Given the description of an element on the screen output the (x, y) to click on. 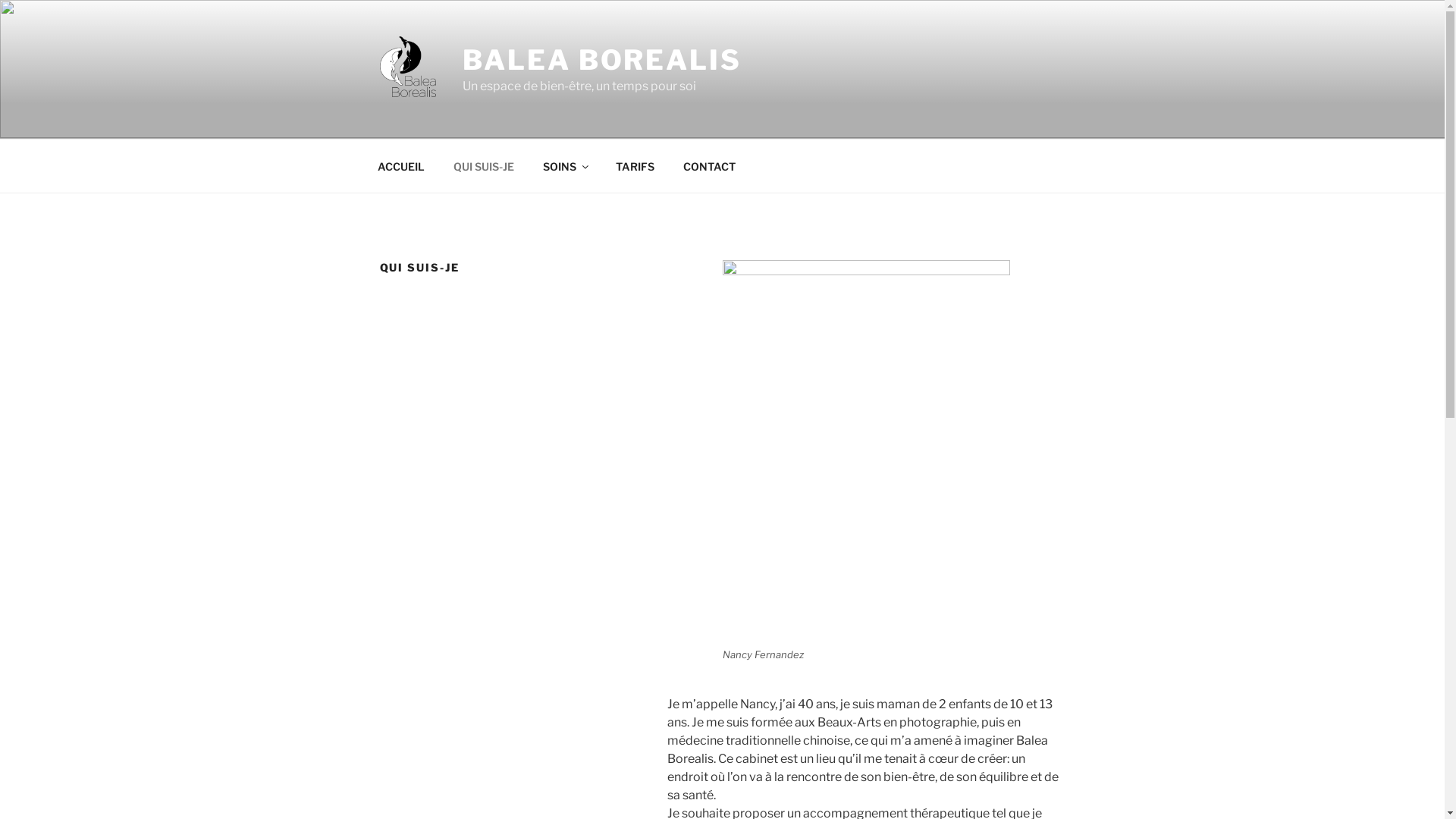
QUI SUIS-JE Element type: text (483, 165)
CONTACT Element type: text (709, 165)
TARIFS Element type: text (634, 165)
ACCUEIL Element type: text (400, 165)
SOINS Element type: text (564, 165)
BALEA BOREALIS Element type: text (601, 59)
